Given the description of an element on the screen output the (x, y) to click on. 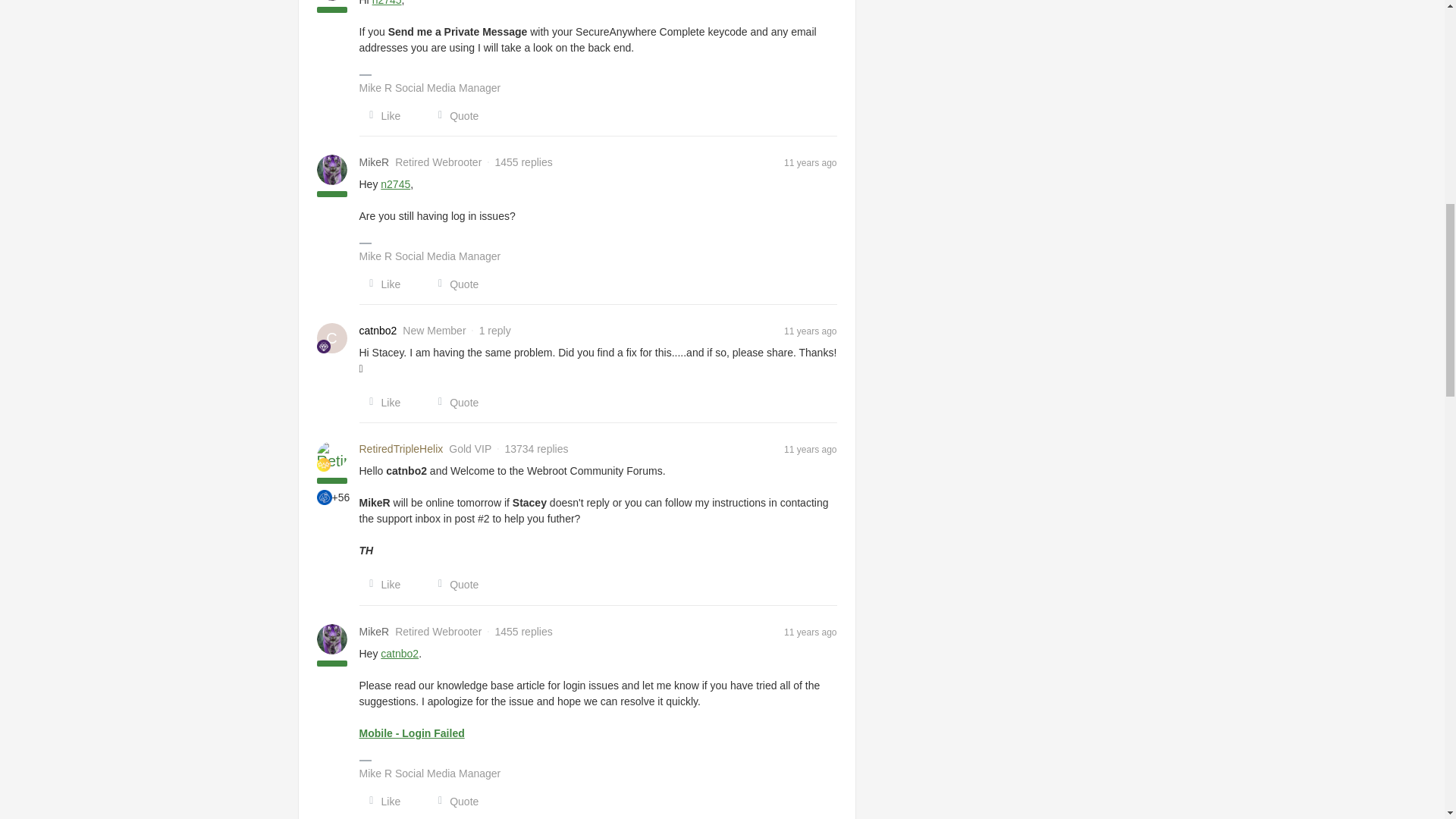
Like (380, 115)
Most Wanted (324, 497)
MikeR (374, 631)
C (332, 337)
11 years ago (809, 162)
MikeR (374, 162)
Quote (453, 115)
Quote (453, 283)
RetiredTripleHelix (401, 449)
n2745 (395, 184)
n2745 (386, 2)
Like (380, 283)
New Member (323, 345)
catnbo2 (378, 330)
MikeR (374, 162)
